Given the description of an element on the screen output the (x, y) to click on. 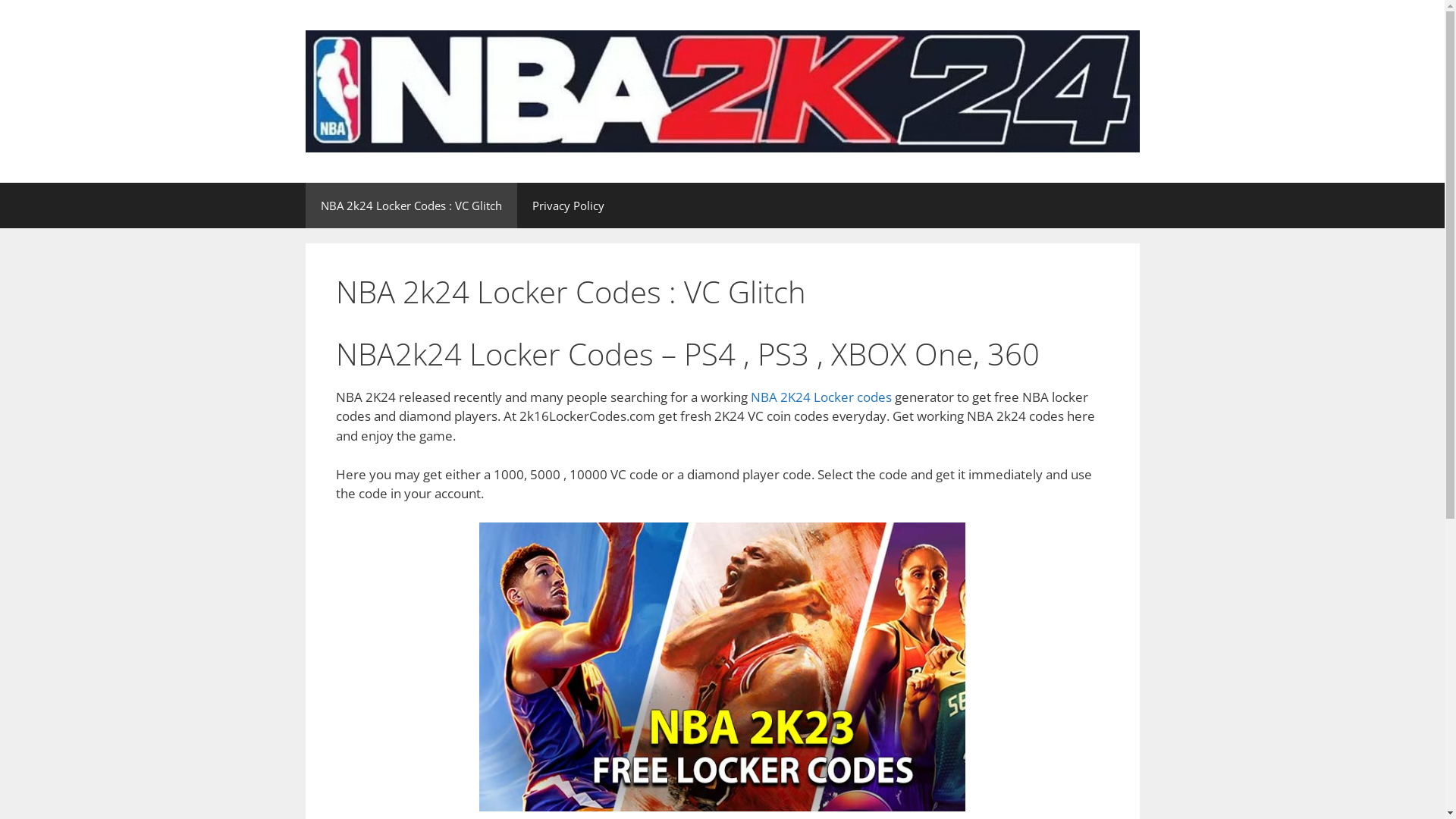
NBA 2k24 Locker Codes : VC Glitch Element type: text (410, 205)
NBA 2K24 Locker codes Element type: text (820, 396)
Privacy Policy Element type: text (568, 205)
